Given the description of an element on the screen output the (x, y) to click on. 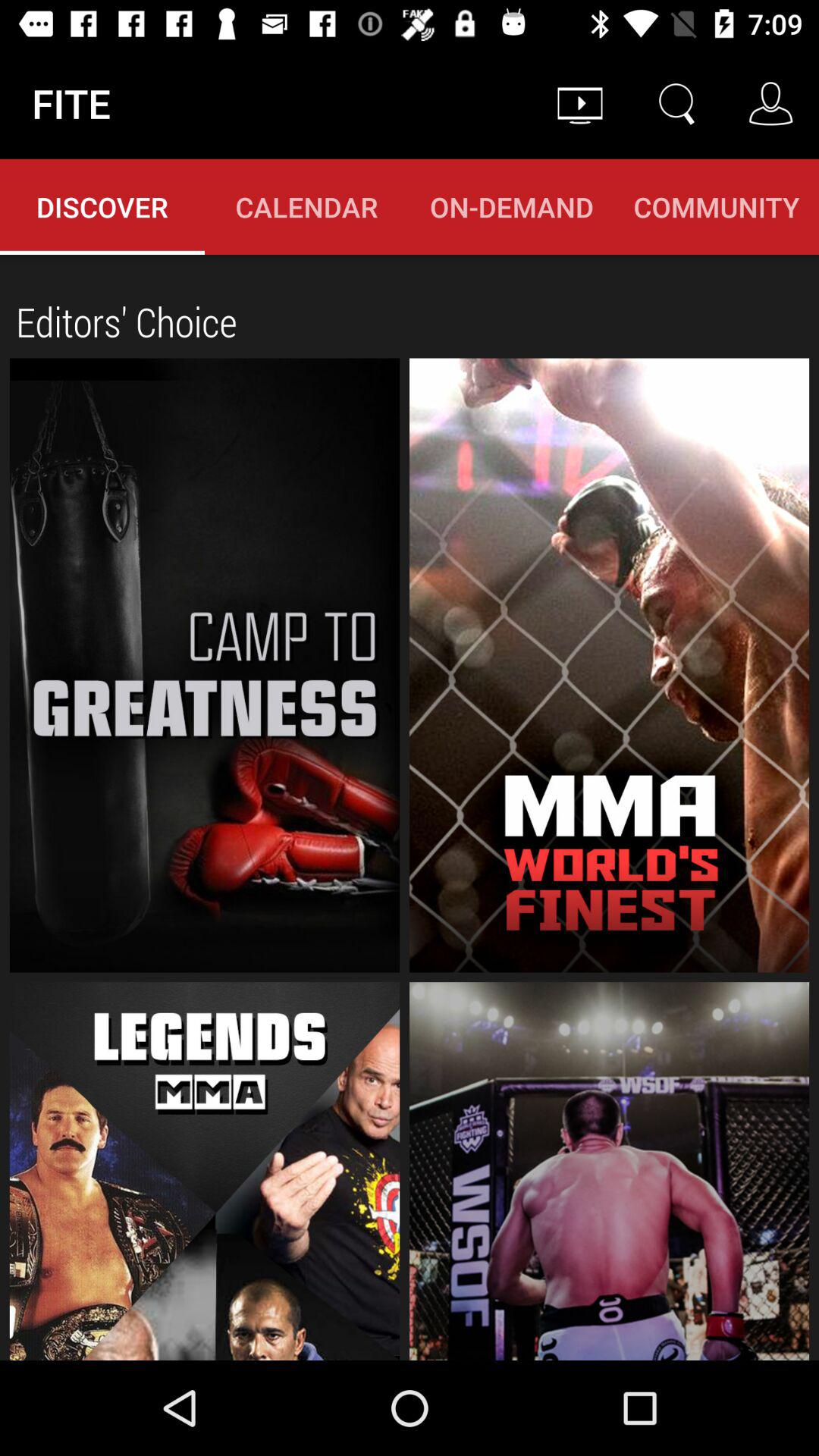
select button for legends mma (204, 1171)
